Given the description of an element on the screen output the (x, y) to click on. 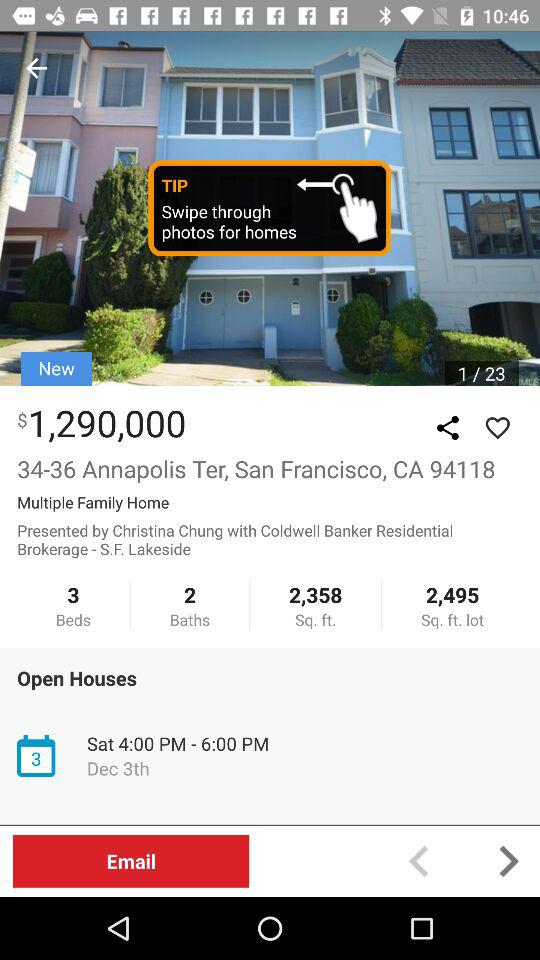
go to gallery (447, 428)
